Given the description of an element on the screen output the (x, y) to click on. 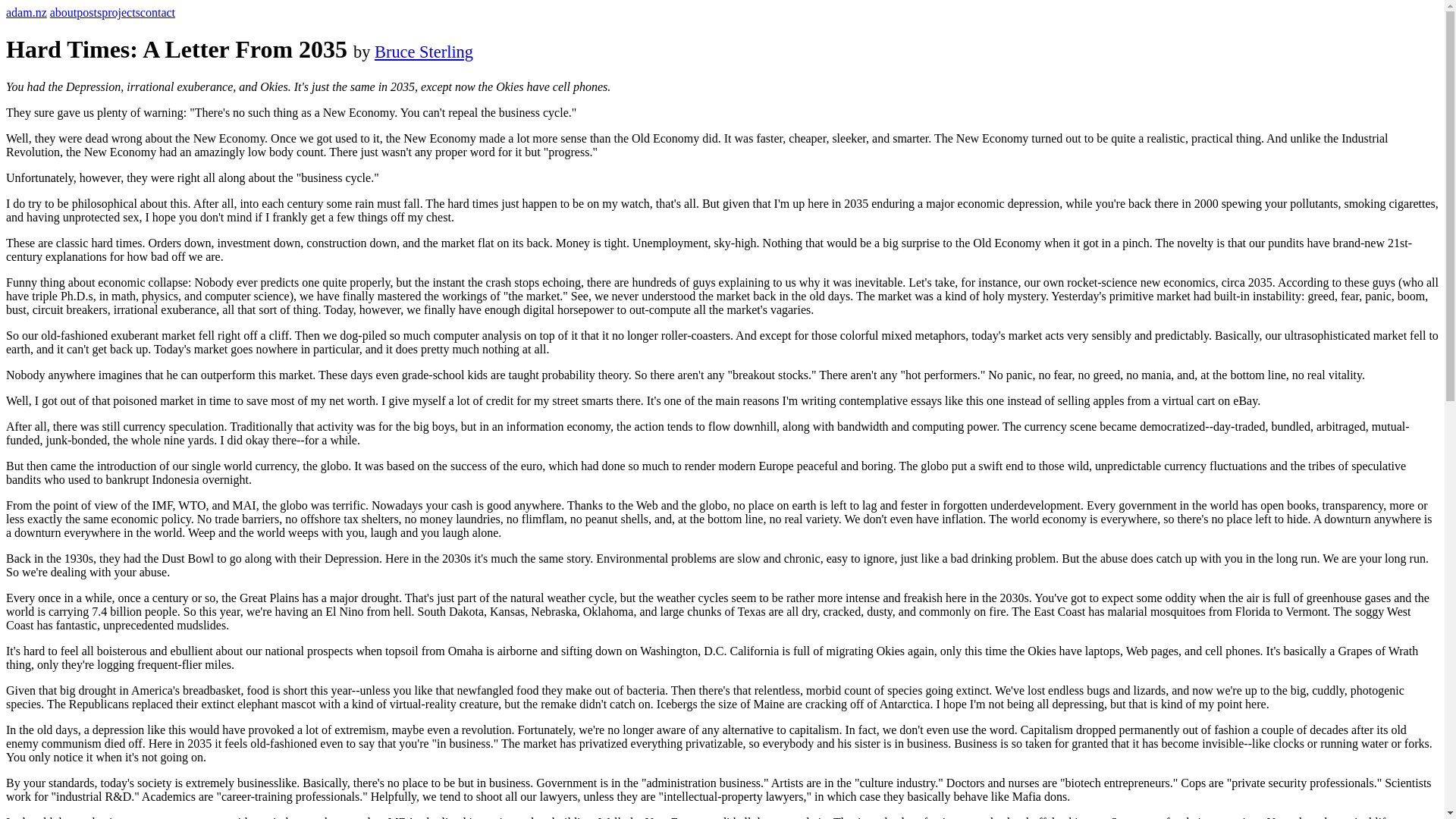
adam.nz (25, 11)
projects (120, 11)
Bruce Sterling (423, 51)
posts (89, 11)
about (63, 11)
contact (156, 11)
